Given the description of an element on the screen output the (x, y) to click on. 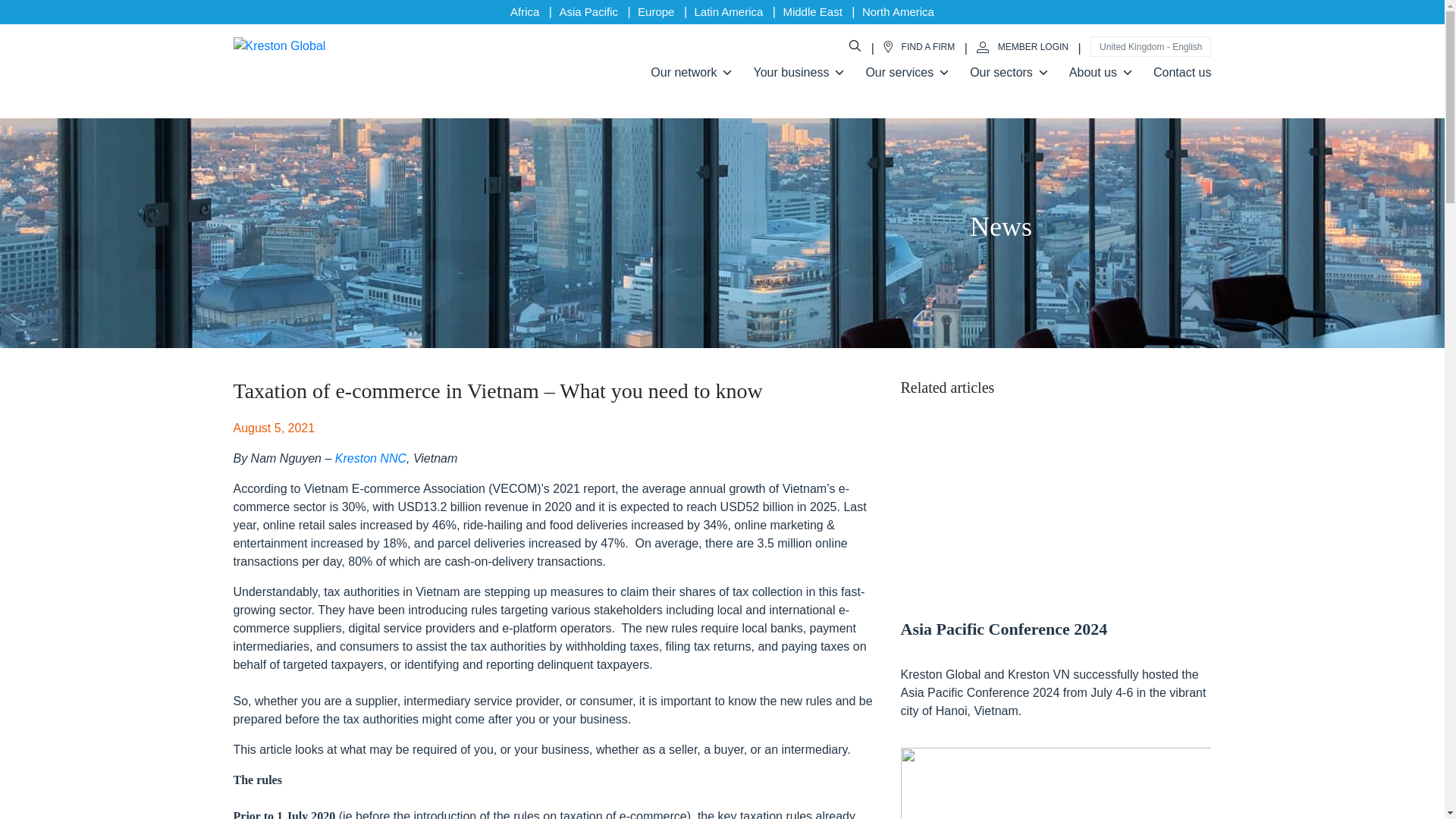
Our network (694, 72)
Asia Pacific (588, 11)
United Kingdom - English (1150, 46)
Search Kreston International (854, 46)
Europe (655, 11)
Africa (524, 11)
United Kingdom - English (1150, 46)
MEMBER LOGIN (1022, 46)
Latin America (728, 11)
FIND A FIRM (919, 46)
North America (897, 11)
Middle East (812, 11)
